Given the description of an element on the screen output the (x, y) to click on. 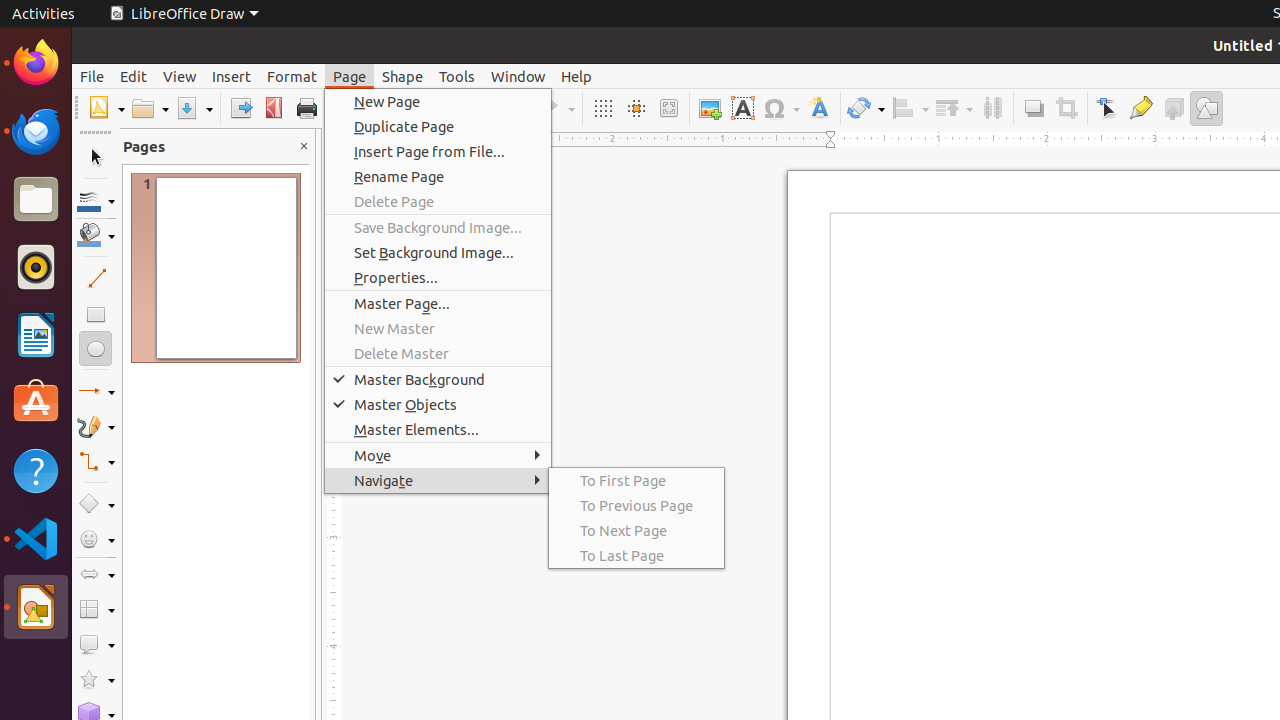
Master Page... Element type: menu-item (438, 303)
View Element type: menu (179, 76)
Master Elements... Element type: menu-item (438, 429)
LibreOffice Draw Element type: push-button (36, 607)
Print Element type: push-button (306, 108)
